Given the description of an element on the screen output the (x, y) to click on. 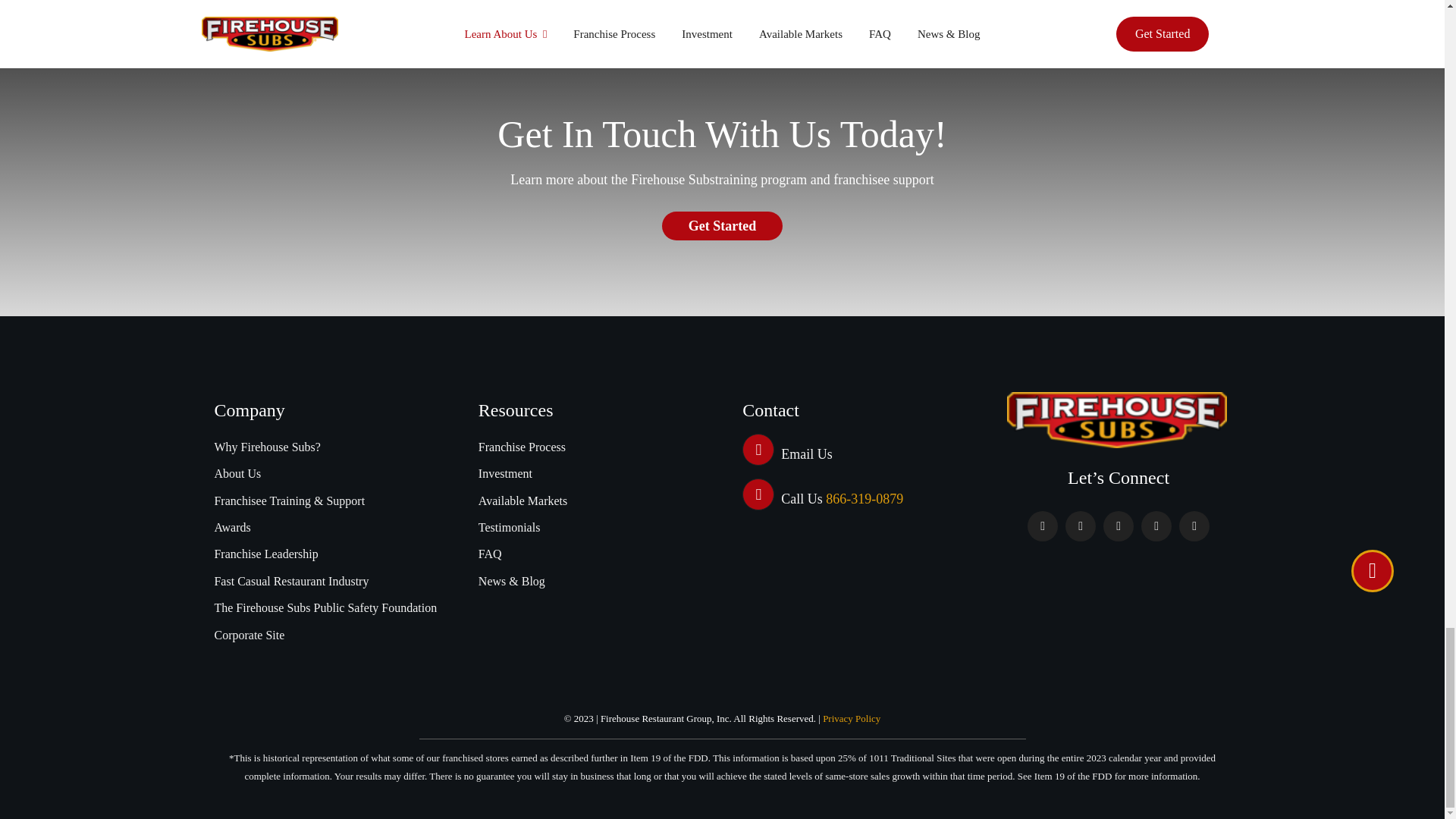
Get Started (722, 225)
